Given the description of an element on the screen output the (x, y) to click on. 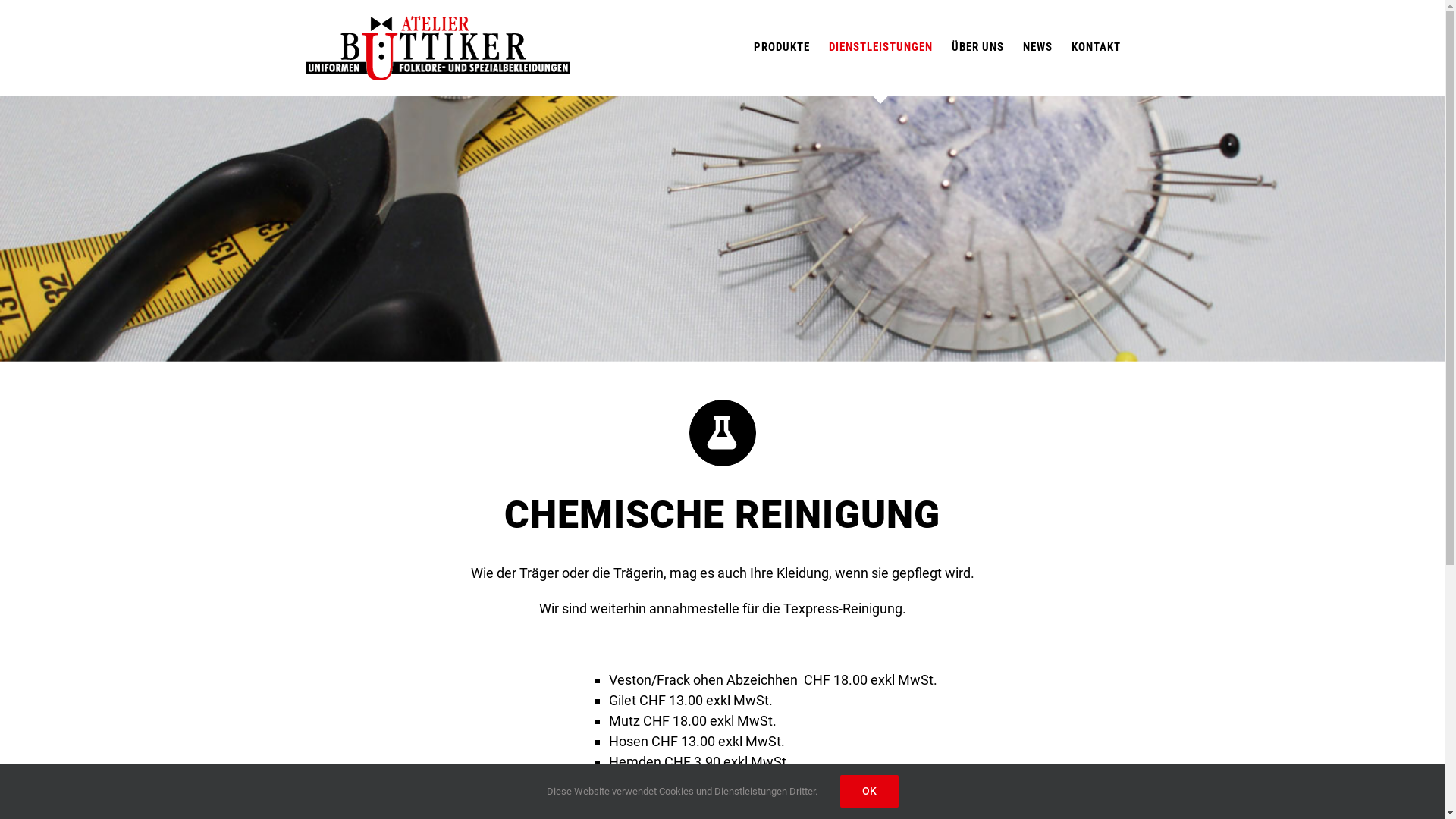
OK Element type: text (869, 791)
DIENSTLEISTUNGEN Element type: text (879, 47)
KONTAKT Element type: text (1095, 47)
PRODUKTE Element type: text (781, 47)
NEWS Element type: text (1036, 47)
